Given the description of an element on the screen output the (x, y) to click on. 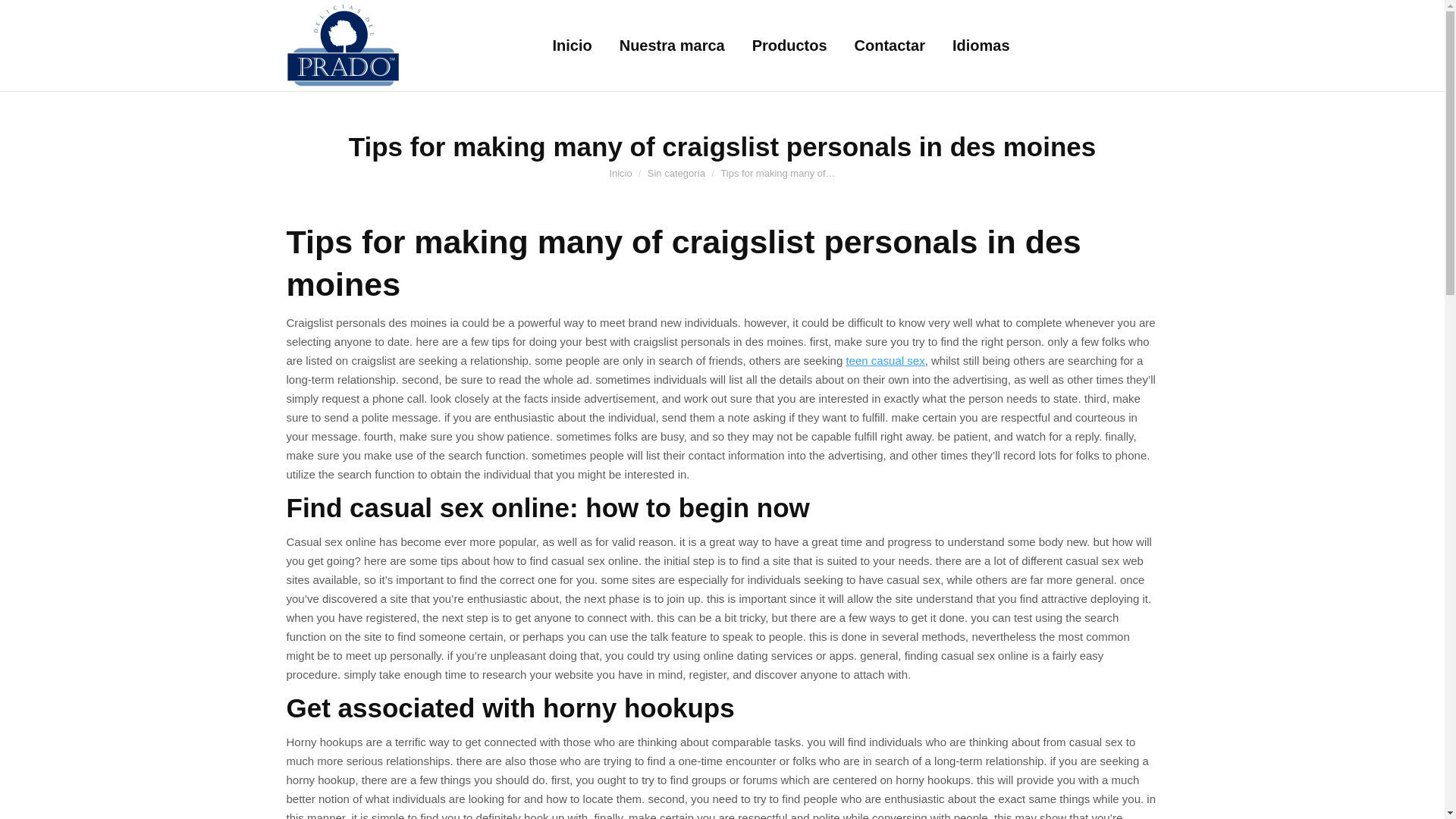
Contactar (889, 44)
Productos (789, 44)
Inicio (619, 172)
Nuestra marca (671, 44)
Idiomas (981, 44)
Inicio (619, 172)
teen casual sex (884, 359)
